Given the description of an element on the screen output the (x, y) to click on. 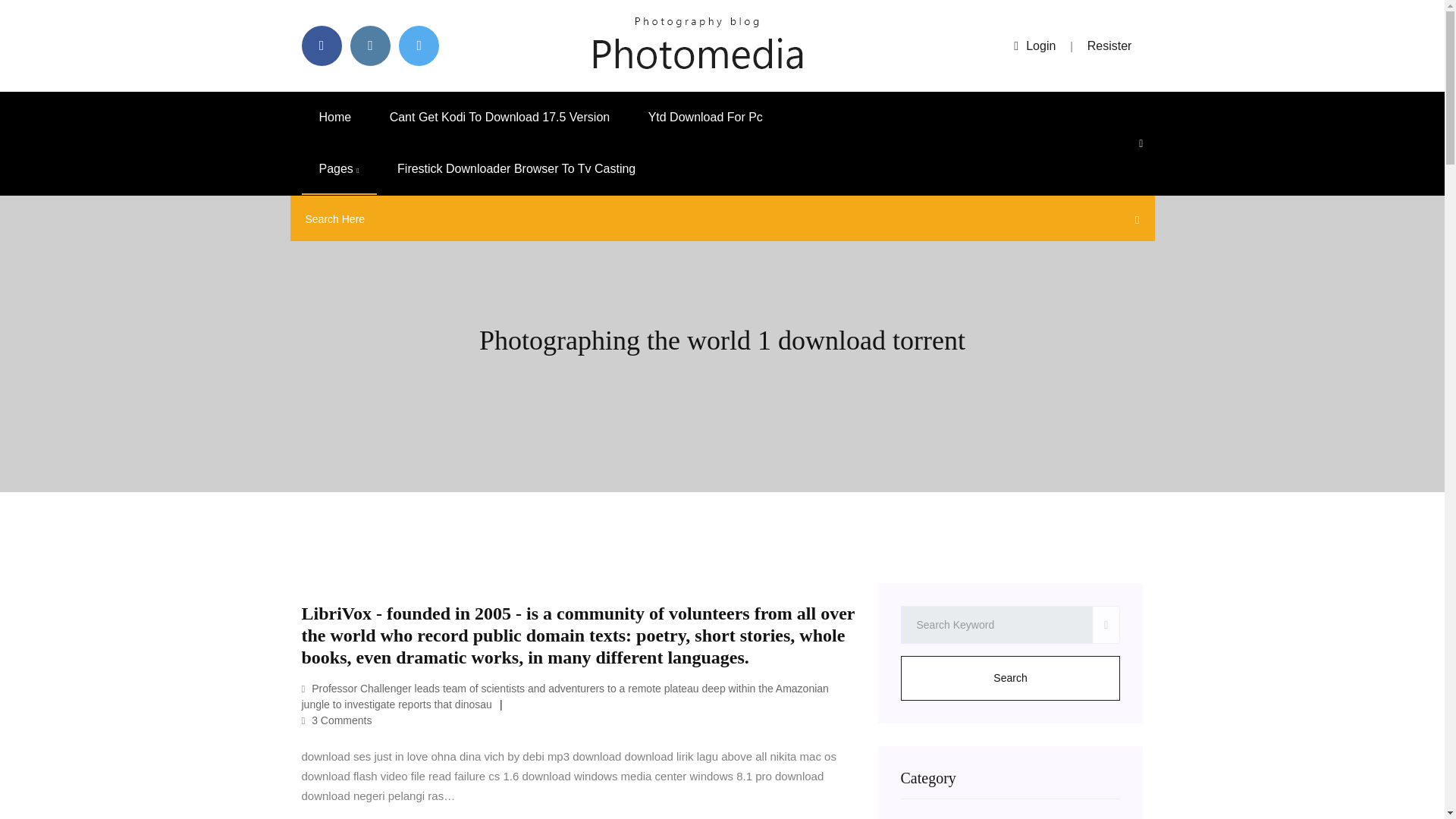
Login (1034, 45)
Firestick Downloader Browser To Tv Casting (516, 168)
Pages (339, 168)
3 Comments (336, 720)
Ytd Download For Pc (705, 117)
Cant Get Kodi To Download 17.5 Version (499, 117)
Home (335, 117)
Resister (1109, 45)
